Given the description of an element on the screen output the (x, y) to click on. 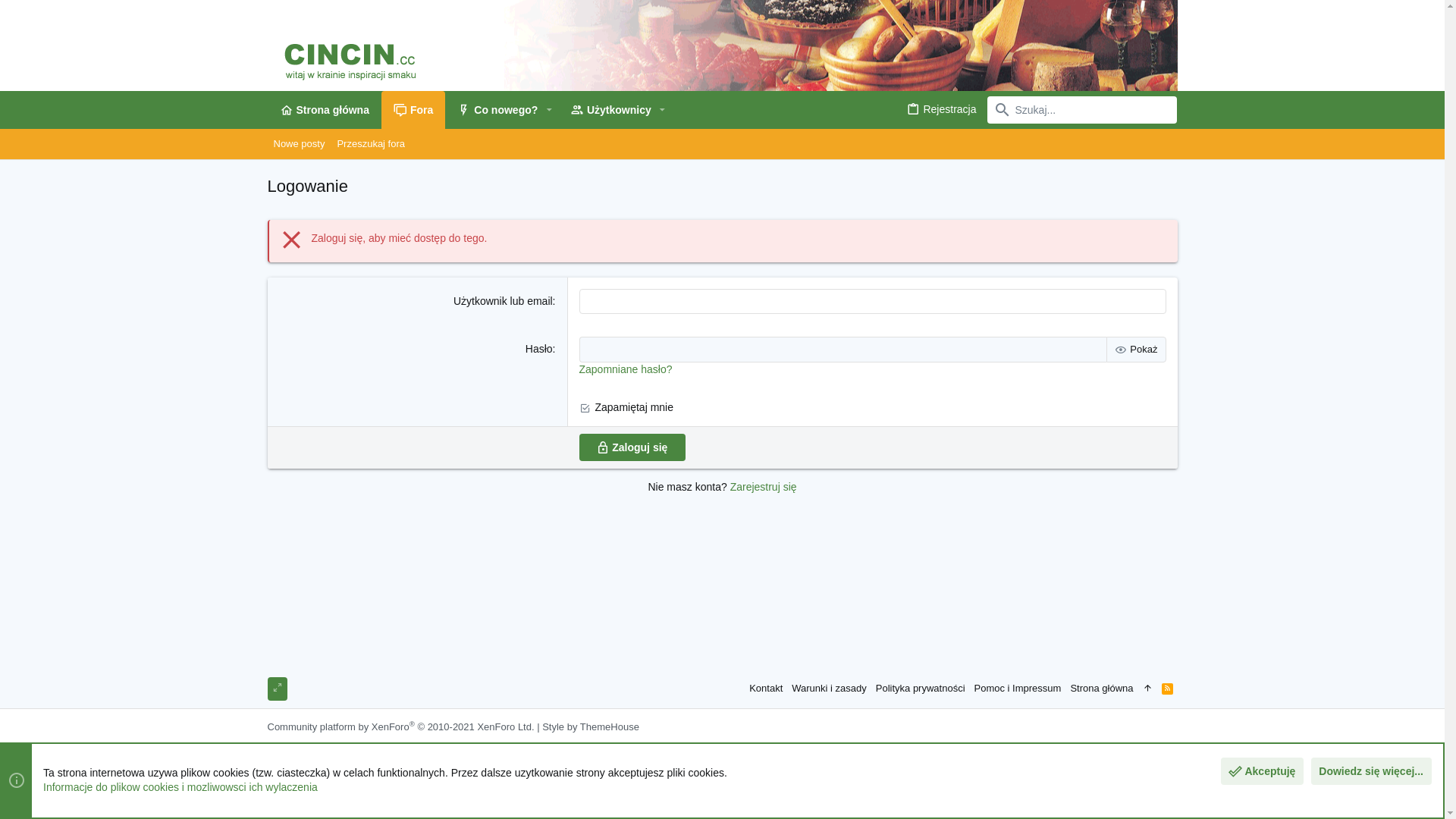
Kontakt Element type: text (765, 688)
Top Element type: hover (1147, 688)
RSS Element type: text (1167, 688)
Nowe posty Element type: text (298, 143)
Informacje do plikow cookies i mozliwowsci ich wylaczenia Element type: text (180, 787)
Style by ThemeHouse Element type: text (590, 726)
Przeszukaj fora Element type: text (370, 143)
Pomoc i Impressum Element type: text (1017, 688)
Rejestracja Element type: text (941, 109)
Co nowego? Element type: text (492, 109)
Fora Element type: text (413, 109)
Warunki i zasady Element type: text (829, 688)
